Given the description of an element on the screen output the (x, y) to click on. 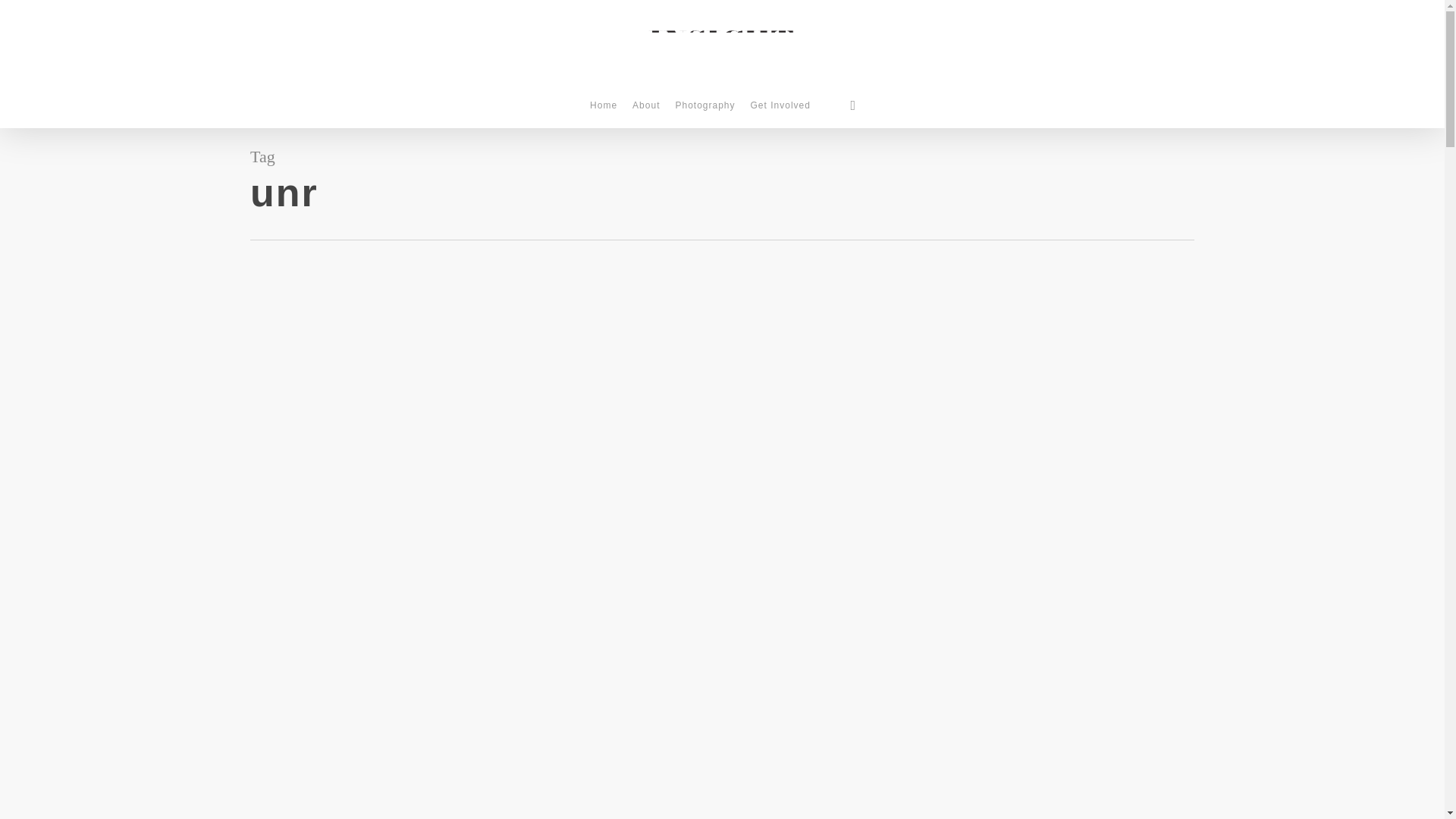
Home (603, 113)
Photography (704, 113)
About (645, 113)
Get Involved (780, 113)
search (852, 105)
